Given the description of an element on the screen output the (x, y) to click on. 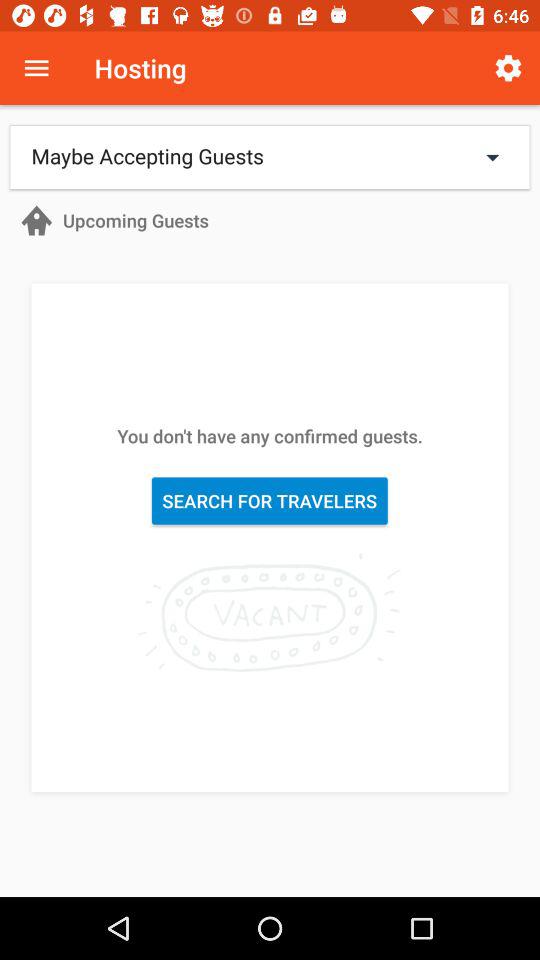
choose item to the left of the hosting icon (36, 68)
